Given the description of an element on the screen output the (x, y) to click on. 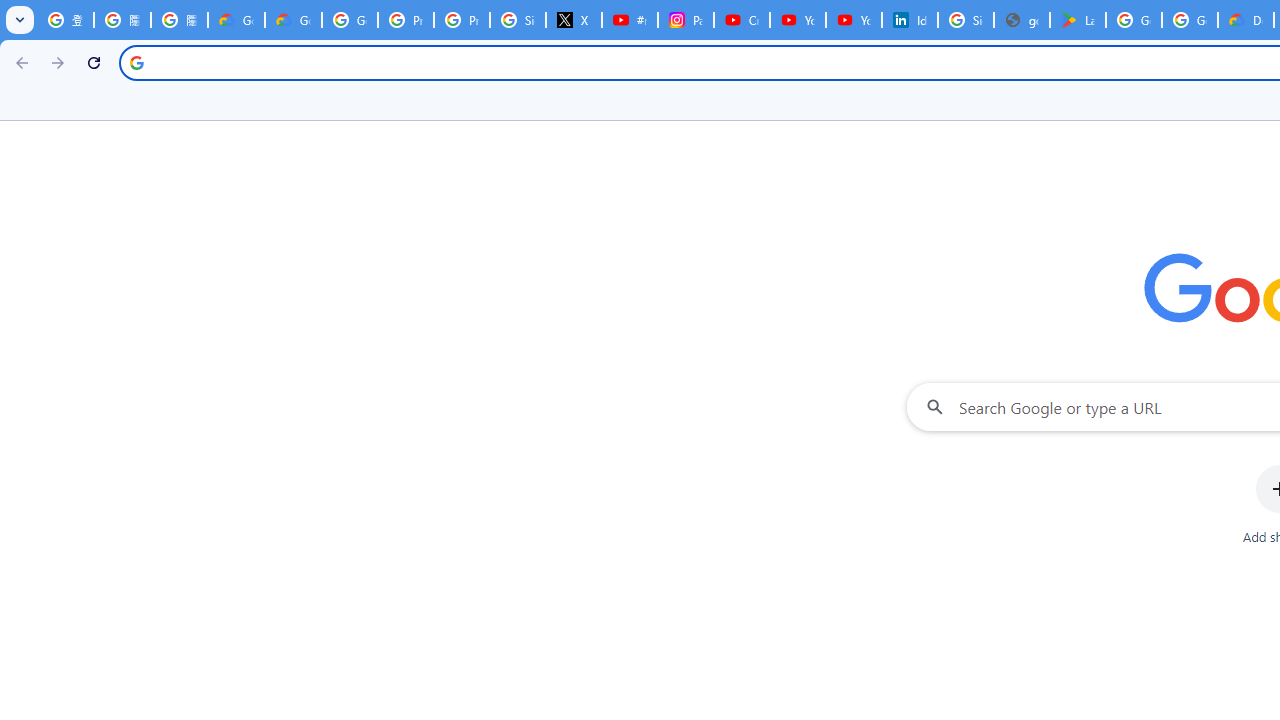
Last Shelter: Survival - Apps on Google Play (1077, 20)
Identity verification via Persona | LinkedIn Help (909, 20)
Search icon (136, 62)
#nbabasketballhighlights - YouTube (629, 20)
Sign in - Google Accounts (966, 20)
Google Cloud Privacy Notice (293, 20)
Google Workspace - Specific Terms (1190, 20)
